Given the description of an element on the screen output the (x, y) to click on. 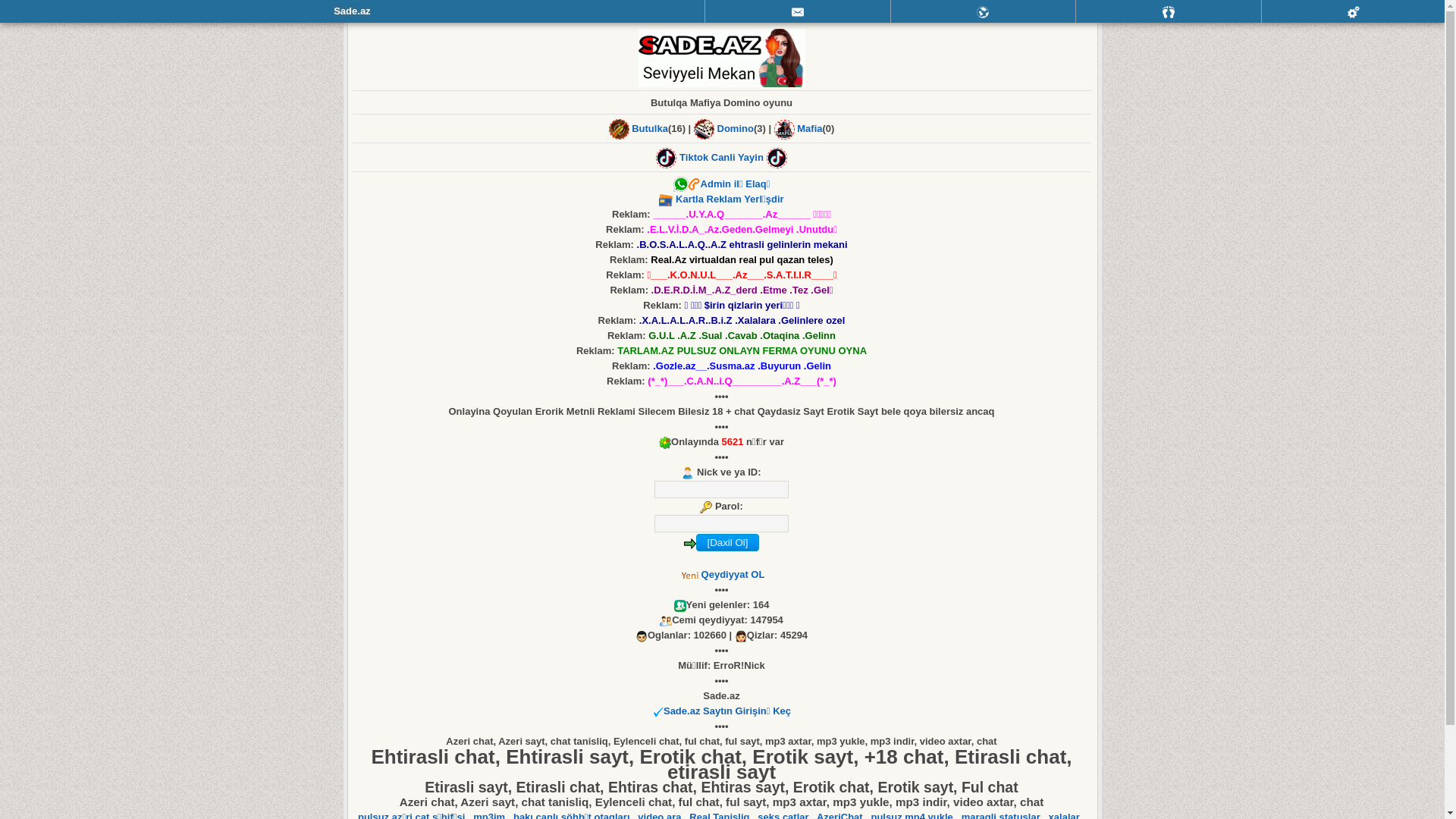
Domino Element type: text (735, 128)
Parol Element type: hover (721, 523)
.B.O.S.A.L.A.Q..A.Z ehtrasli gelinlerin mekani Element type: text (742, 244)
.X.A.L.A.L.A.R..B.i.Z .Xalalara .Gelinlere ozel Element type: text (742, 320)
nick Element type: hover (721, 489)
G.U.L .A.Z .Sual .Cavab .Otaqina .Gelinn Element type: text (741, 335)
TARLAM.AZ PULSUZ ONLAYN FERMA OYUNU OYNA Element type: text (741, 350)
Butulka Element type: text (649, 128)
Mafia Element type: text (809, 128)
(*_*)___.C.A.N..i.Q_________.A.Z___(*_*) Element type: text (741, 380)
.Gozle.az__.Susma.az .Buyurun .Gelin Element type: text (741, 365)
Qeydiyyat OL Element type: text (733, 574)
Qonaqlar Element type: hover (1168, 11)
Tiktok Canli Yayin Element type: text (721, 157)
[Daxil Ol] Element type: text (727, 542)
Mesajlar Element type: hover (797, 11)
Real.Az virtualdan real pul qazan teles) Element type: text (741, 259)
